Given the description of an element on the screen output the (x, y) to click on. 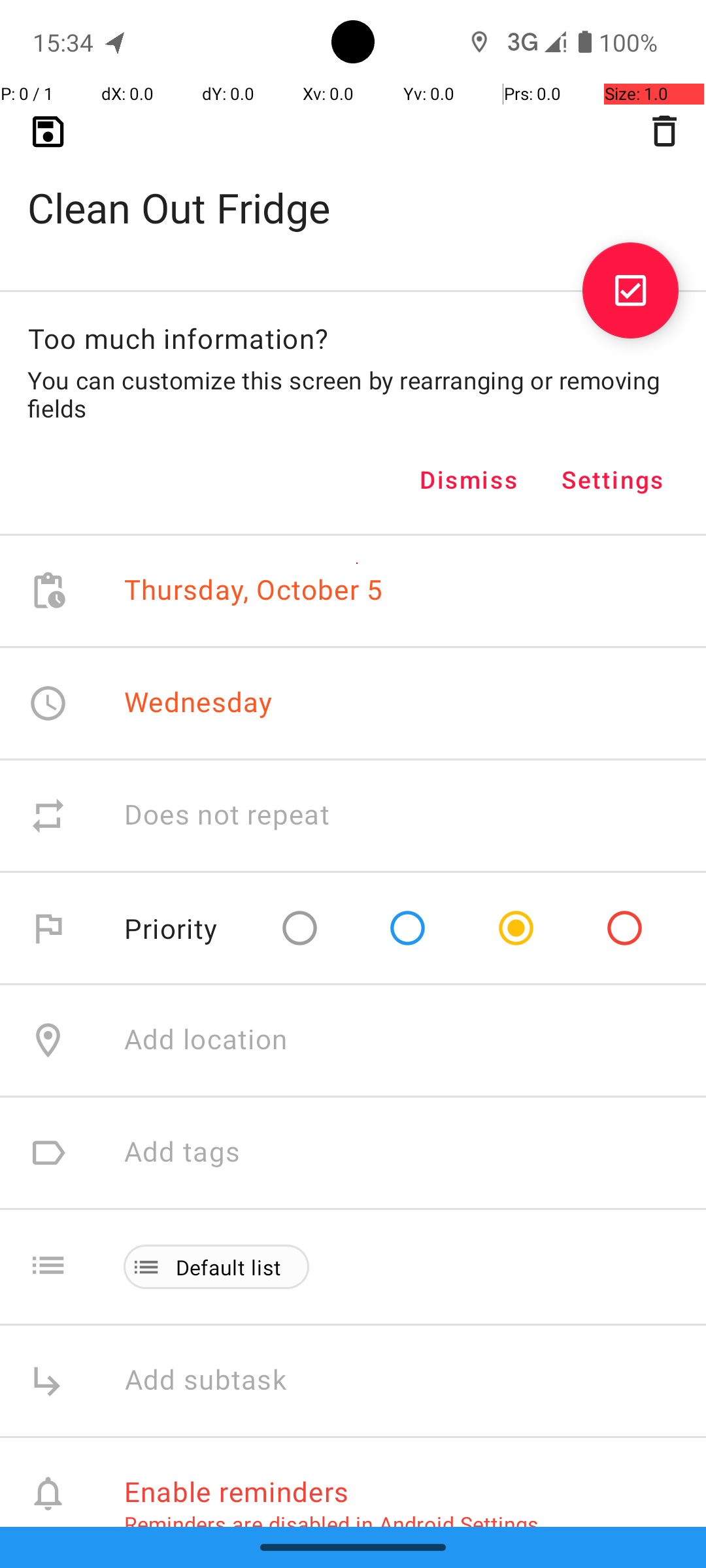
Clean Out Fridge Element type: android.widget.EditText (353, 186)
Thursday, October 5 Element type: android.widget.TextView (253, 590)
Enable reminders Element type: android.widget.TextView (236, 1490)
Reminders are disabled in Android Settings Element type: android.widget.TextView (331, 1523)
